Given the description of an element on the screen output the (x, y) to click on. 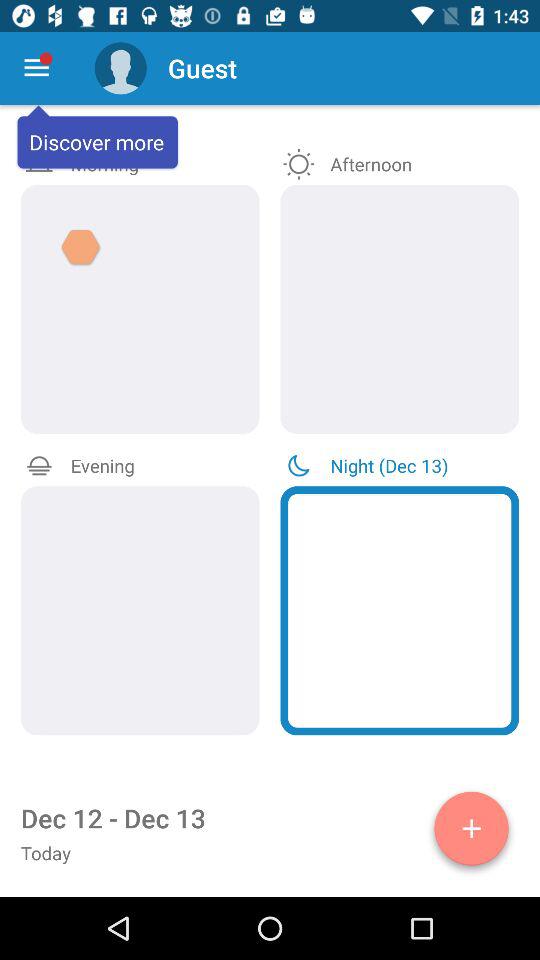
toggle evening medications (140, 610)
